Given the description of an element on the screen output the (x, y) to click on. 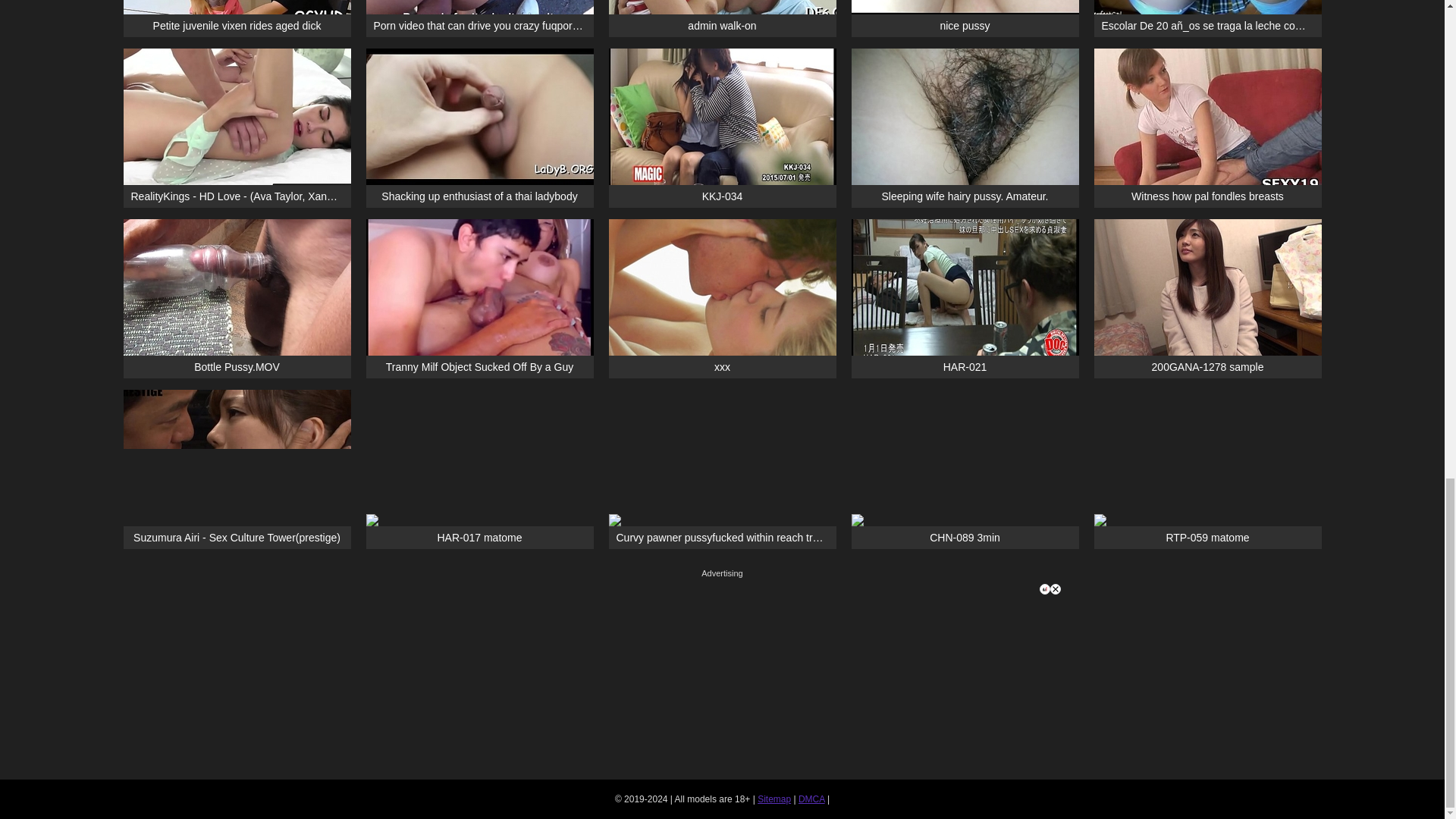
DMCA (811, 798)
Tranny Milf Object Sucked Off By a Guy (478, 298)
Porn video that can drive you crazy fuqporn.pro (478, 18)
nice pussy (964, 18)
KKJ-034 (721, 128)
Bottle Pussy.MOV (236, 298)
Petite juvenile vixen rides aged dick (236, 18)
xxx (721, 298)
Sitemap (773, 798)
